Given the description of an element on the screen output the (x, y) to click on. 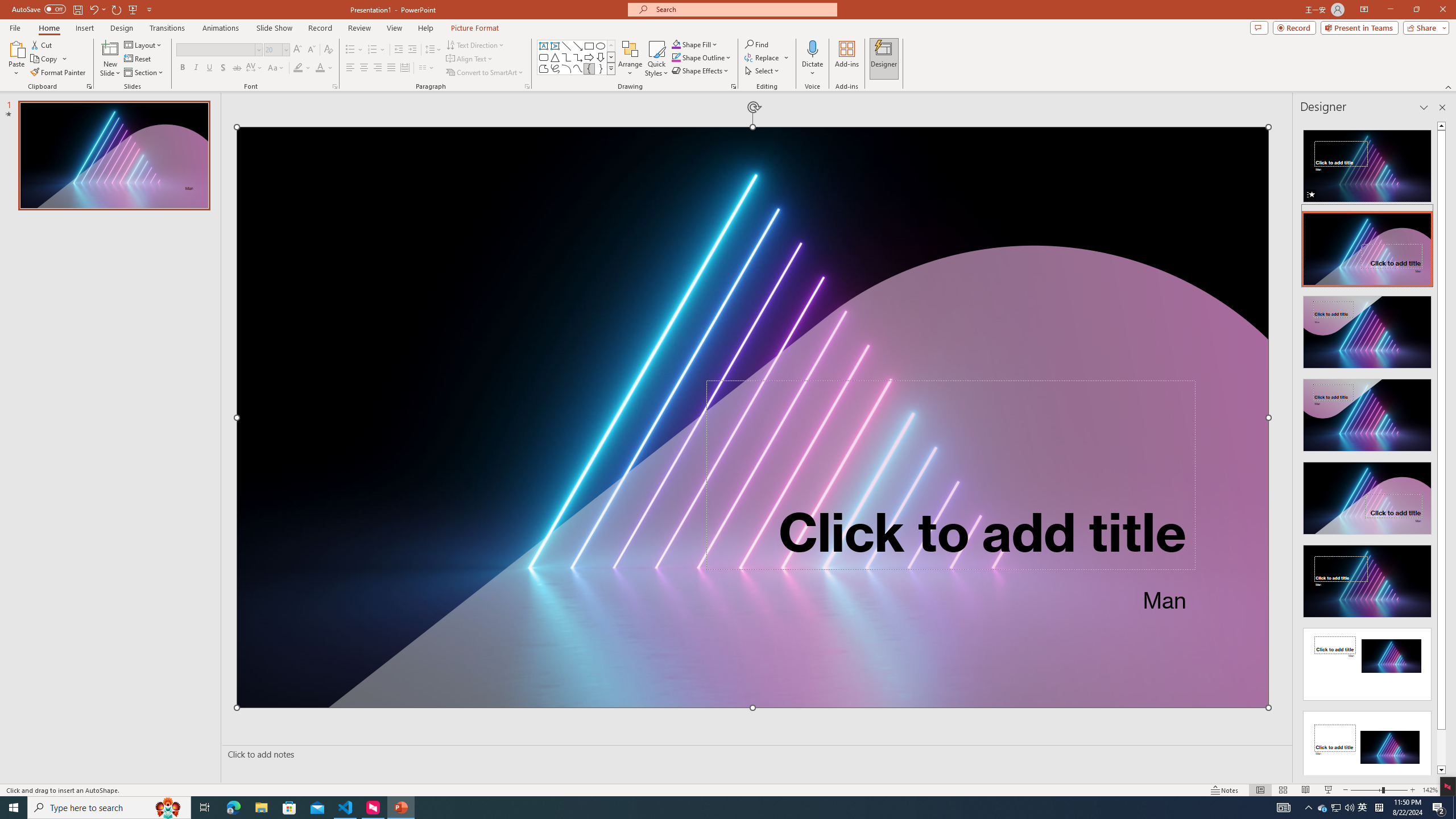
Picture Format (475, 28)
Recommended Design: Animation (1366, 162)
